Given the description of an element on the screen output the (x, y) to click on. 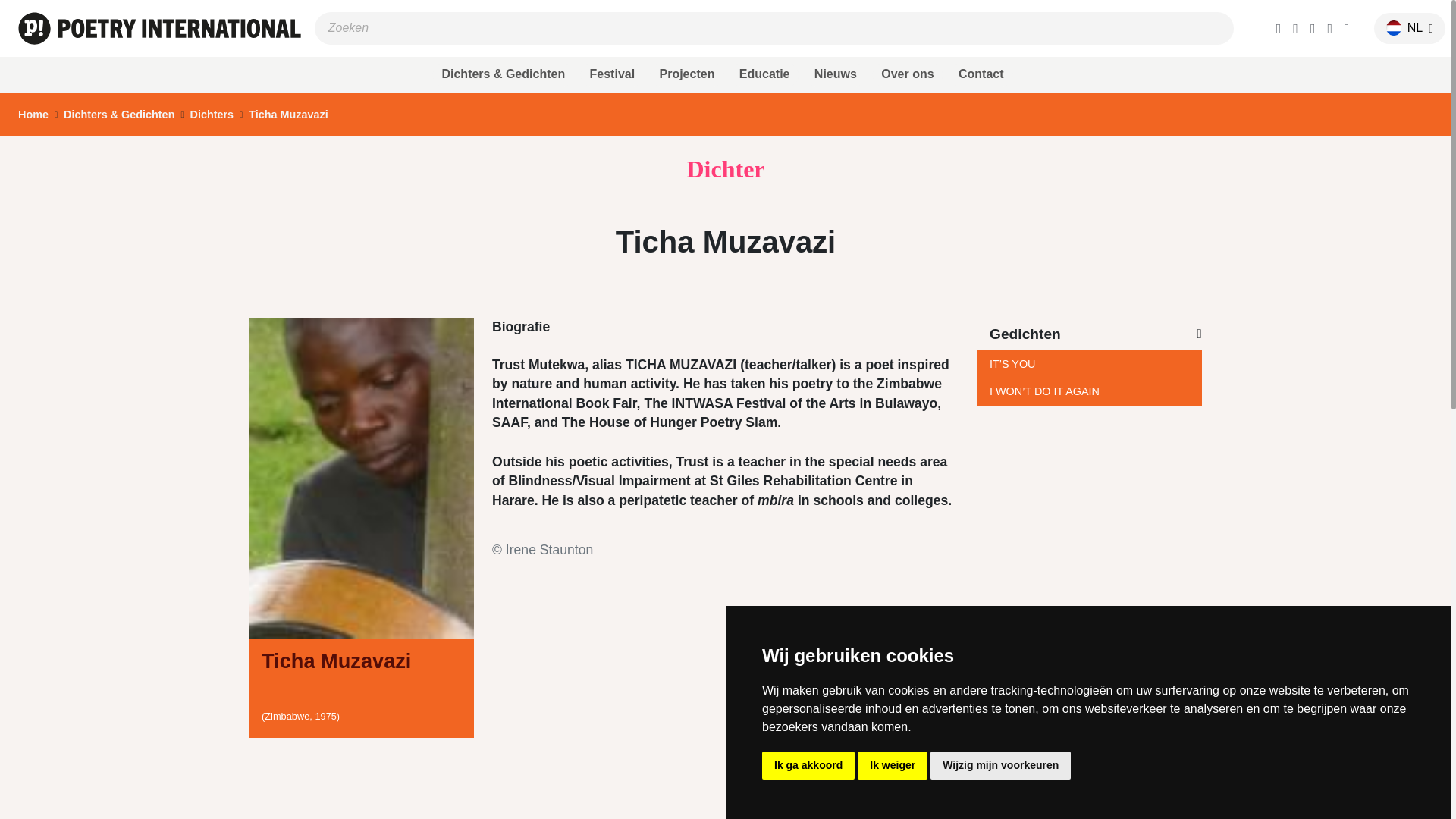
Wijzig mijn voorkeuren (1000, 765)
Projecten (686, 74)
Nieuws (835, 74)
Festival (611, 74)
NL (1403, 28)
Ik weiger (892, 765)
Over ons (907, 74)
Ik ga akkoord (807, 765)
Contact (981, 74)
Educatie (764, 74)
